Given the description of an element on the screen output the (x, y) to click on. 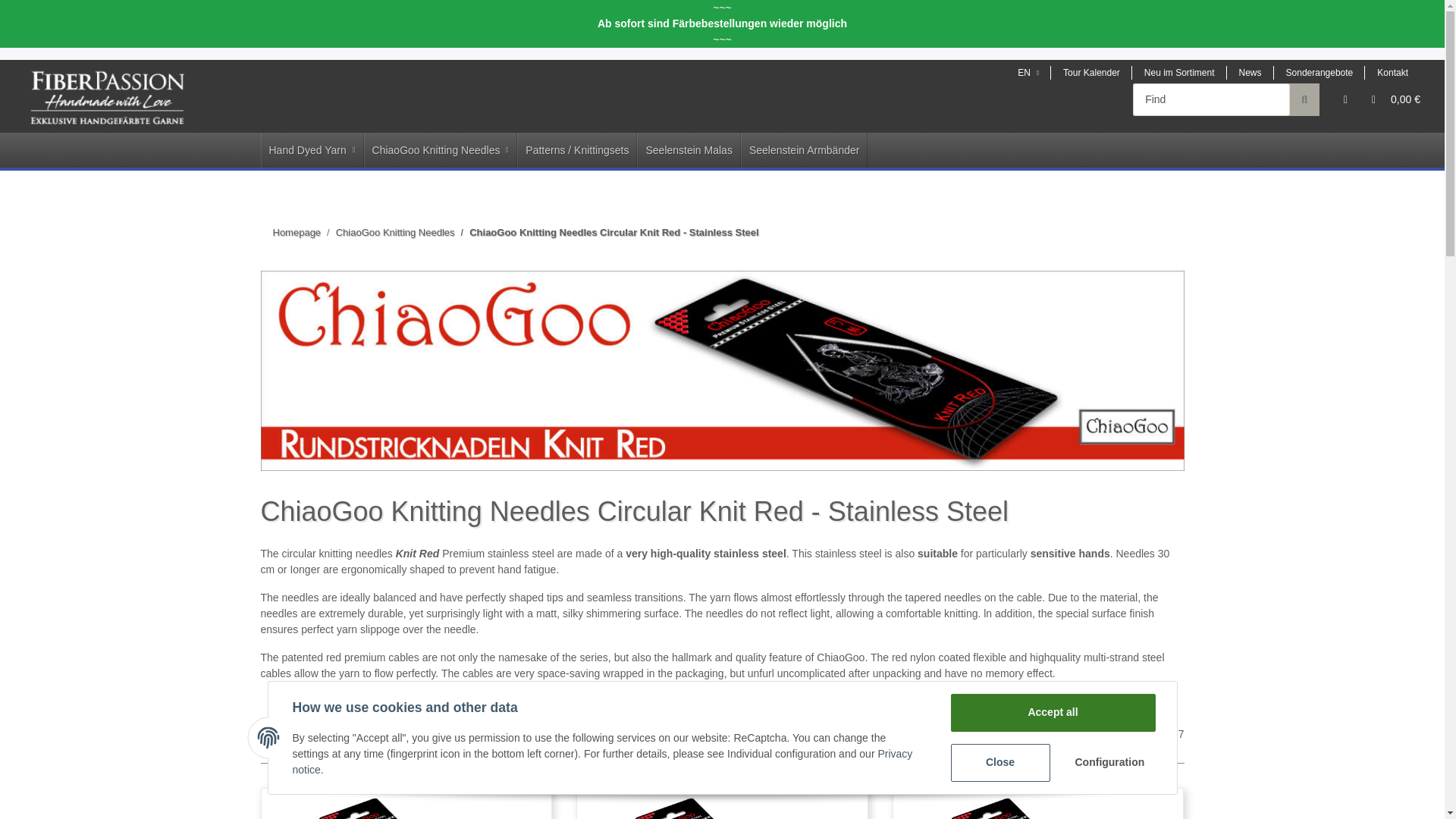
Kontakt (1393, 72)
Sonderangebote (1319, 72)
Aktuelle Neuigkeiten (1250, 72)
Seelenstein Malas (688, 150)
ChiaoGoo Knitting Needles (441, 150)
Neu im Sortiment (1179, 72)
News (1250, 72)
Kontaktformular (1393, 72)
Hand Dyed Yarn (312, 150)
Fiberpassion on Tour 2022 (1091, 72)
Hand Dyed Yarn (312, 150)
Neu im Sortiment (1179, 72)
Sonderangebote (1319, 72)
Tour Kalender (1091, 72)
EN (1028, 72)
